Given the description of an element on the screen output the (x, y) to click on. 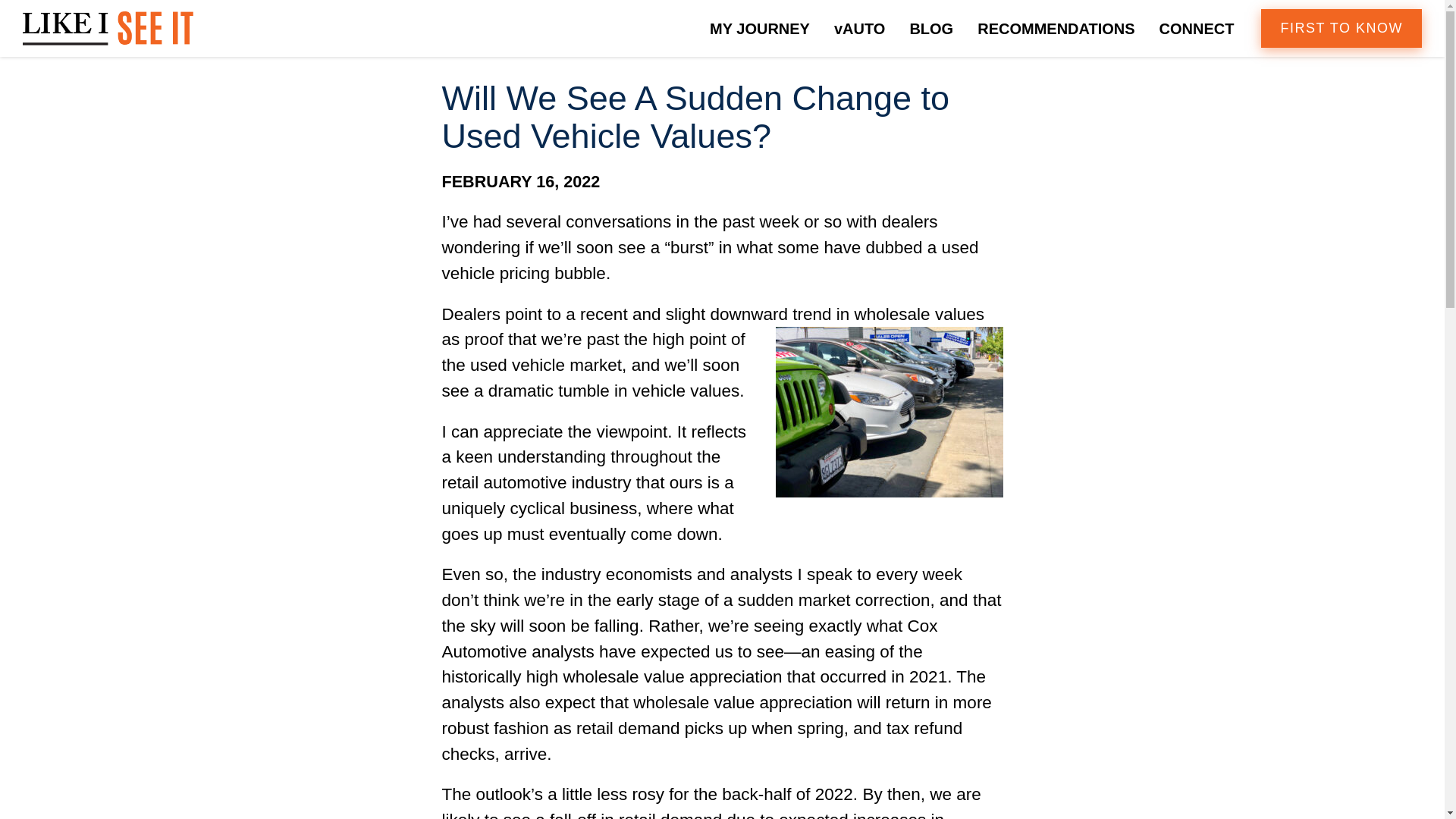
FIRST TO KNOW (1341, 28)
MY JOURNEY (759, 27)
VAUTO (859, 27)
BLOG (930, 27)
RECOMMENDATIONS (1056, 27)
CONNECT (1196, 27)
